Given the description of an element on the screen output the (x, y) to click on. 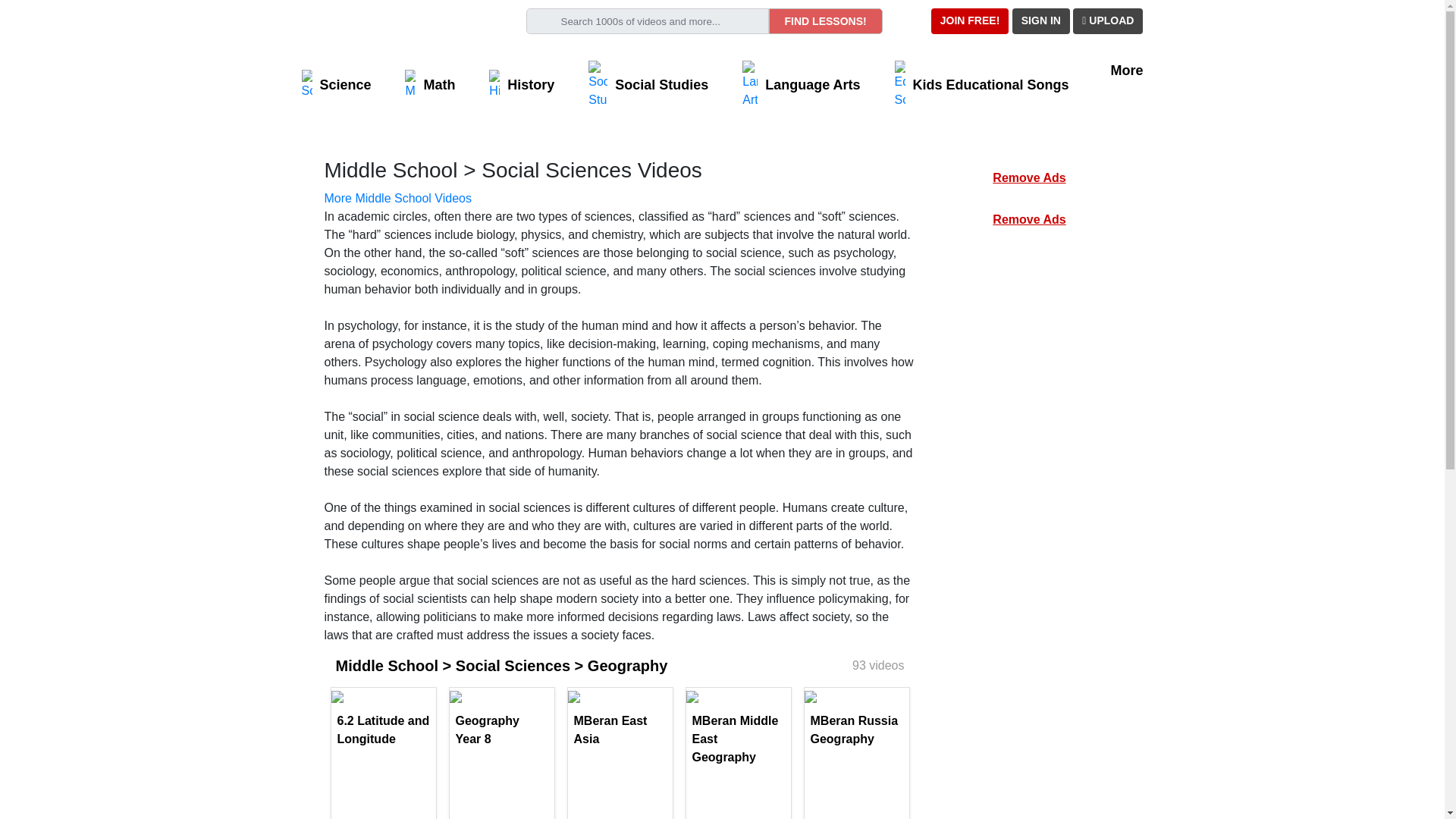
Science (336, 84)
Social Studies (647, 84)
Math (429, 84)
More Middle School Videos (397, 197)
Language Arts (801, 84)
History (521, 84)
